Given the description of an element on the screen output the (x, y) to click on. 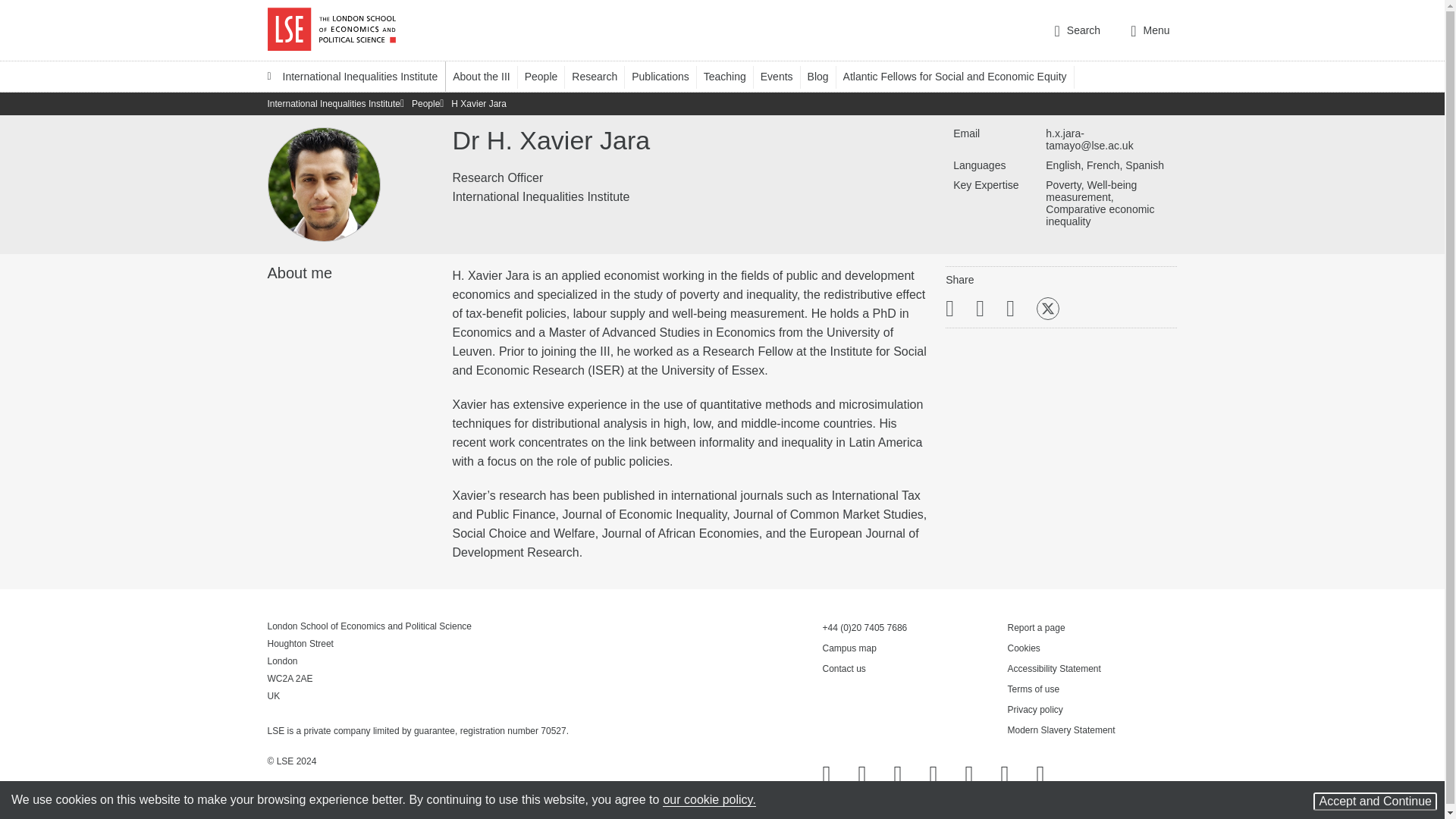
International Inequalities Institute (352, 76)
Publications (667, 76)
Teaching (731, 76)
People (548, 76)
Events (784, 76)
Atlantic Fellows for Social and Economic Equity (962, 76)
Publications (667, 76)
our cookie policy. (708, 799)
About the III (488, 76)
Research (601, 76)
